Given the description of an element on the screen output the (x, y) to click on. 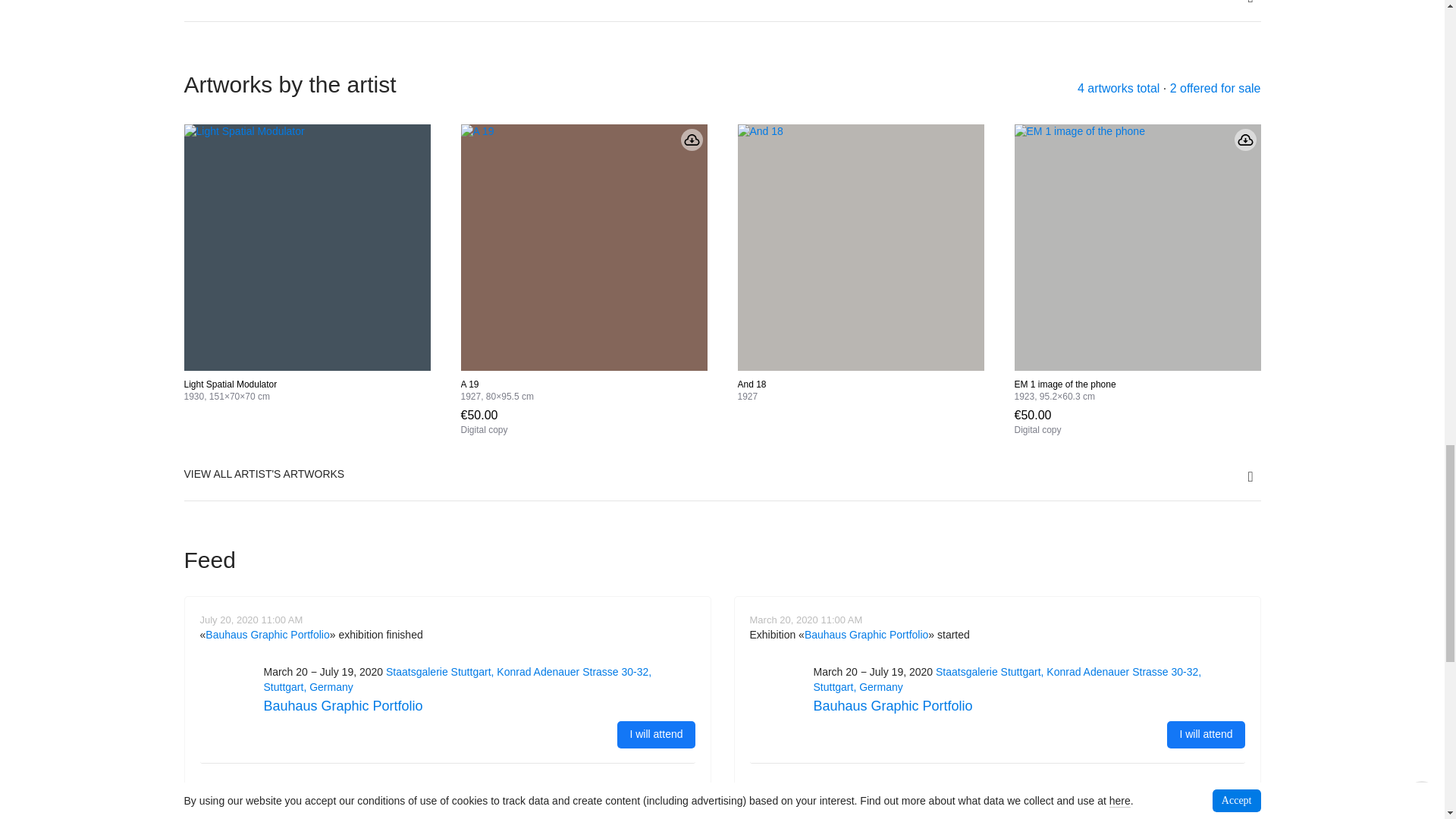
And 18 (860, 247)
Light Spatial Modulator (306, 247)
A 19 (584, 247)
Buy digital copy (1037, 421)
Buy digital copy (484, 421)
EM 1 image of the phone (1137, 247)
